Given the description of an element on the screen output the (x, y) to click on. 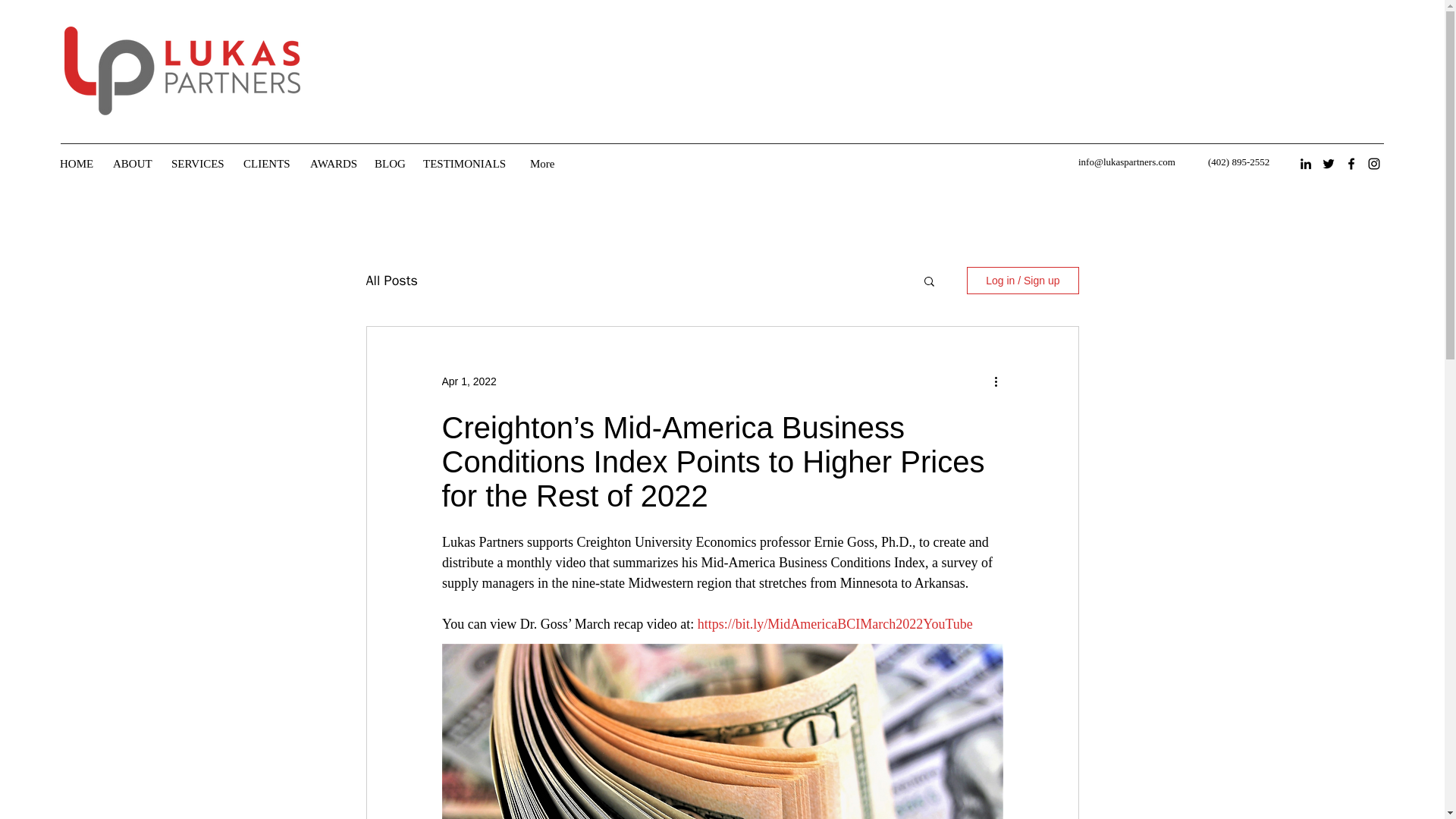
All Posts (390, 280)
AWARDS (334, 163)
TESTIMONIALS (468, 163)
BLOG (390, 163)
CLIENTS (268, 163)
Apr 1, 2022 (468, 380)
HOME (78, 163)
SERVICES (199, 163)
ABOUT (133, 163)
